Given the description of an element on the screen output the (x, y) to click on. 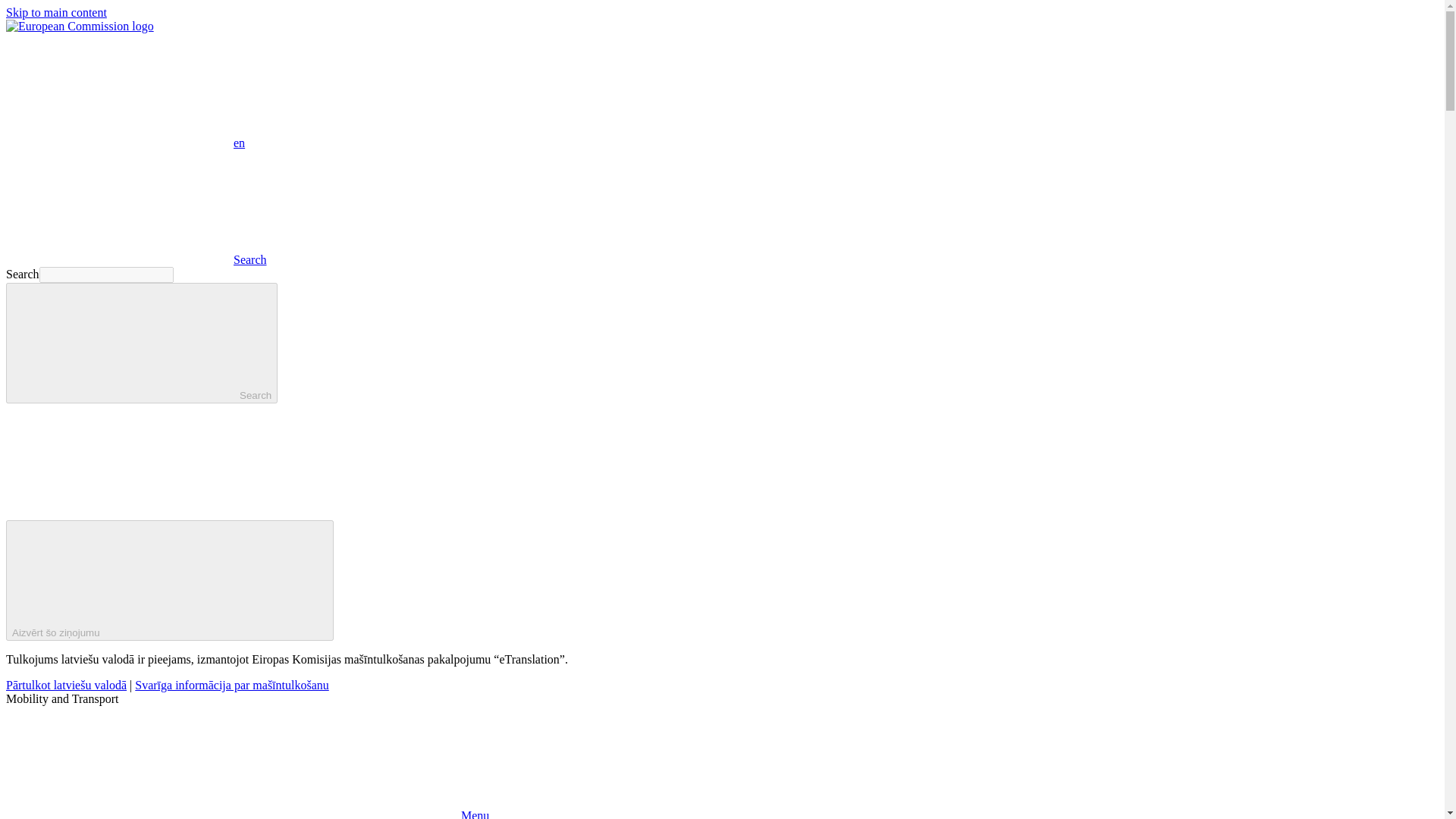
Search (141, 342)
European Commission (79, 25)
en (118, 90)
enen (124, 142)
Menu (247, 814)
Search (135, 259)
Skip to main content (55, 11)
